Given the description of an element on the screen output the (x, y) to click on. 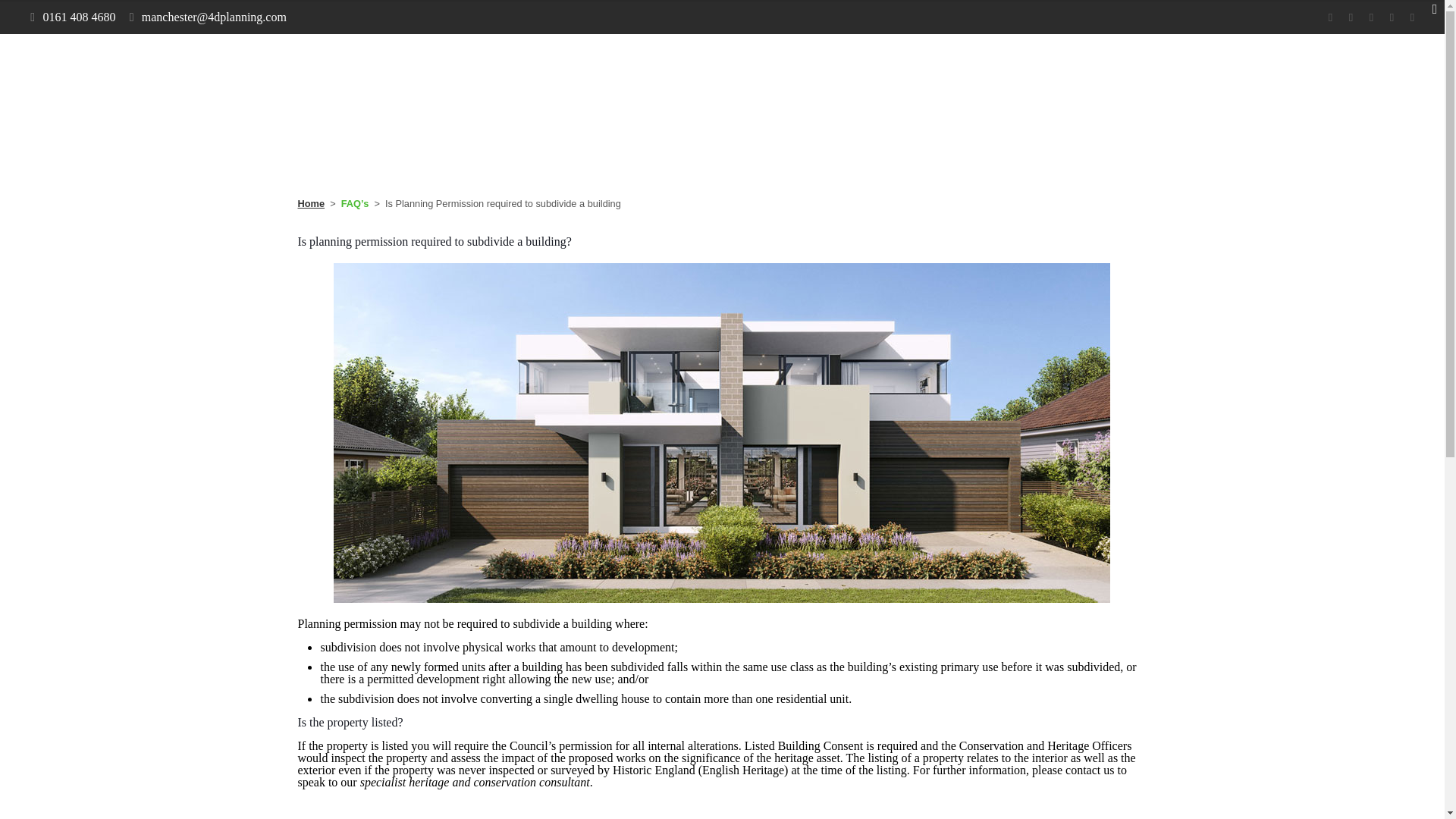
Twitter (1350, 17)
LinkedIn (1391, 17)
LinkedIn (743, 767)
Instagram (763, 767)
Facebook (680, 767)
YouTube (722, 767)
Facebook (1330, 17)
Instagram (1413, 17)
Twitter (702, 767)
